Given the description of an element on the screen output the (x, y) to click on. 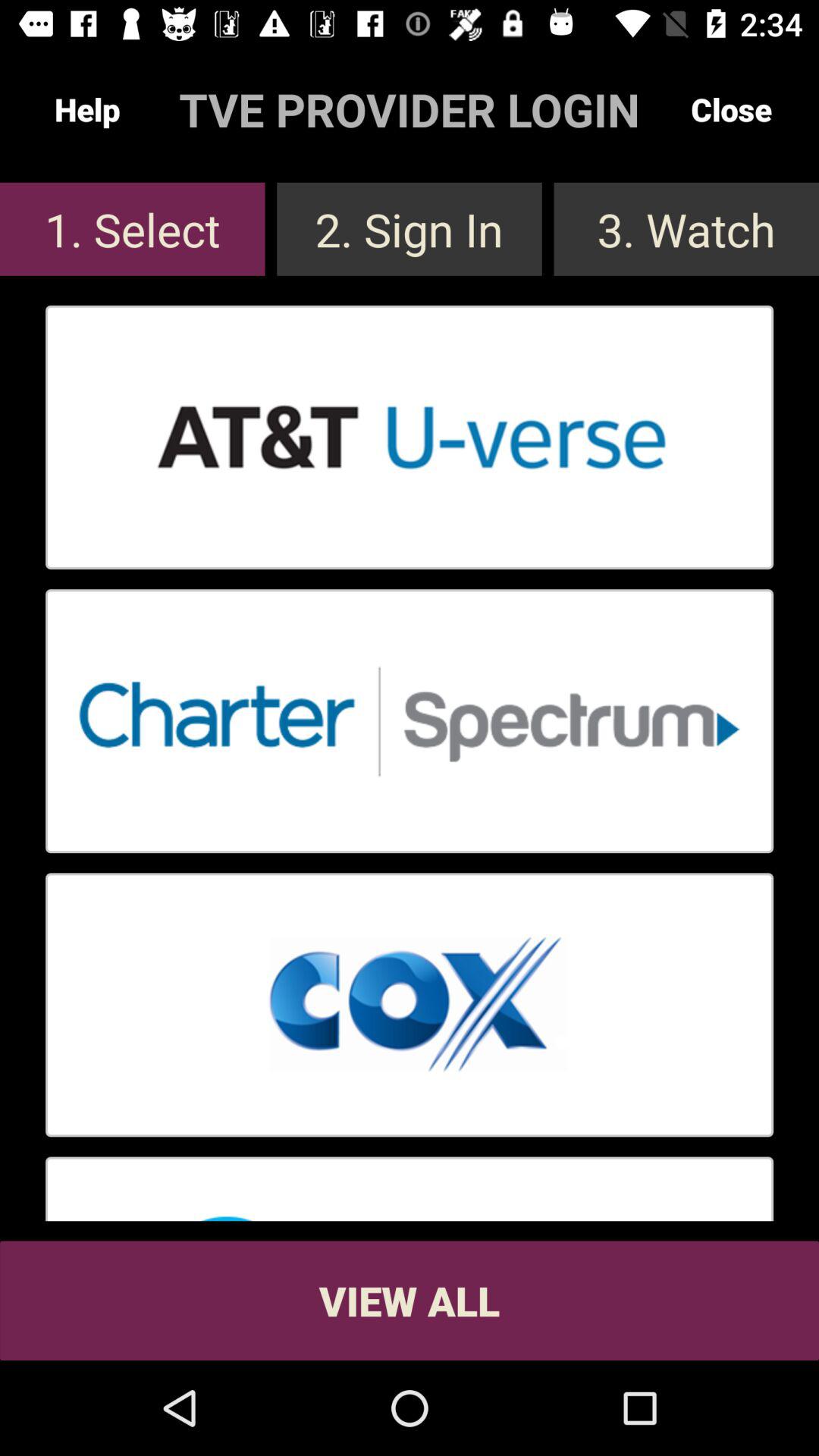
open the icon above 3. watch app (731, 108)
